Given the description of an element on the screen output the (x, y) to click on. 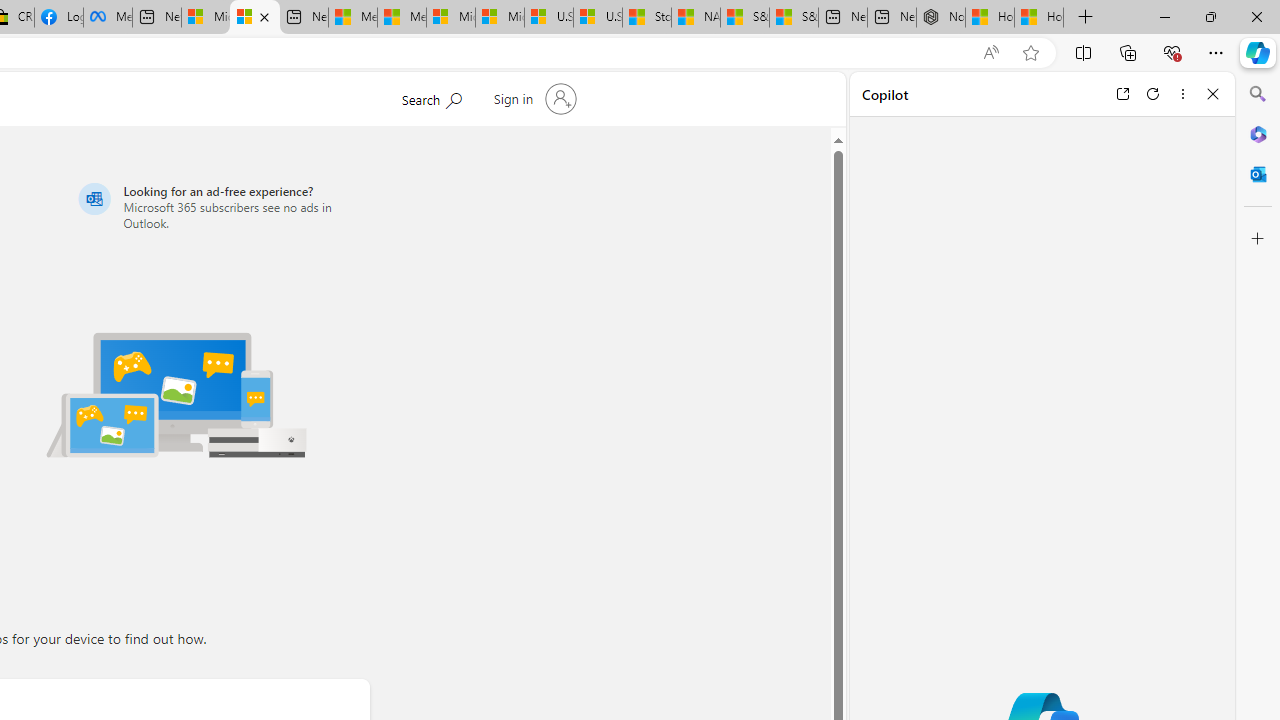
Refresh (1153, 93)
Search Microsoft.com (431, 97)
Microsoft 365 (1258, 133)
Sign in to your account (532, 98)
Collections (1128, 52)
New Tab (1085, 17)
Illustration of multiple devices (176, 394)
More options (1182, 93)
Log into Facebook (58, 17)
Restore (1210, 16)
S&P 500, Nasdaq end lower, weighed by Nvidia dip | Watch (793, 17)
Meta Store (107, 17)
Customize (1258, 239)
